Given the description of an element on the screen output the (x, y) to click on. 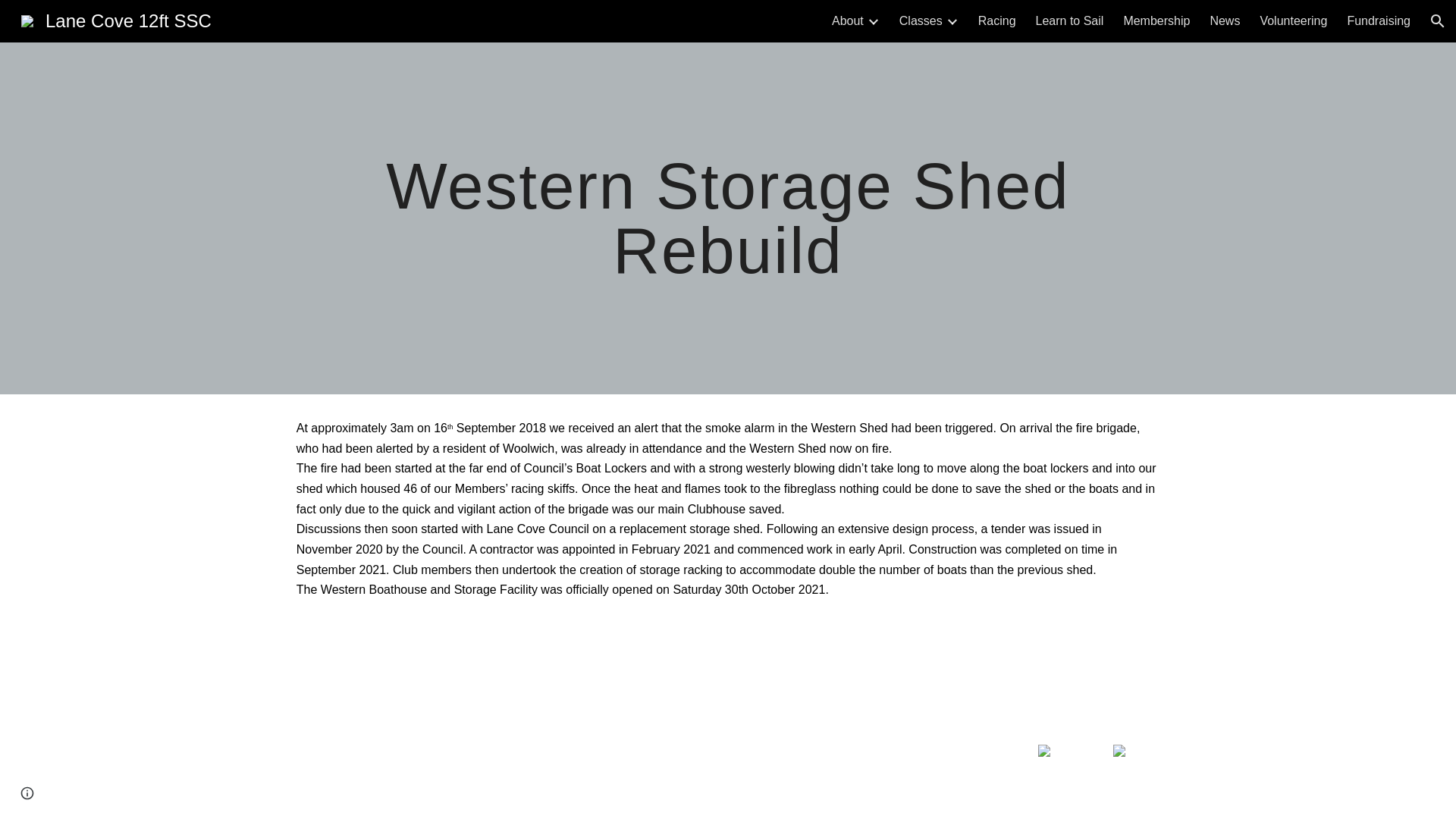
Racing (997, 20)
News (1224, 20)
Fundraising (1378, 20)
About (847, 20)
Classes (920, 20)
Learn to Sail (1069, 20)
Membership (1155, 20)
Volunteering (1292, 20)
Lane Cove 12ft SSC (116, 19)
